Given the description of an element on the screen output the (x, y) to click on. 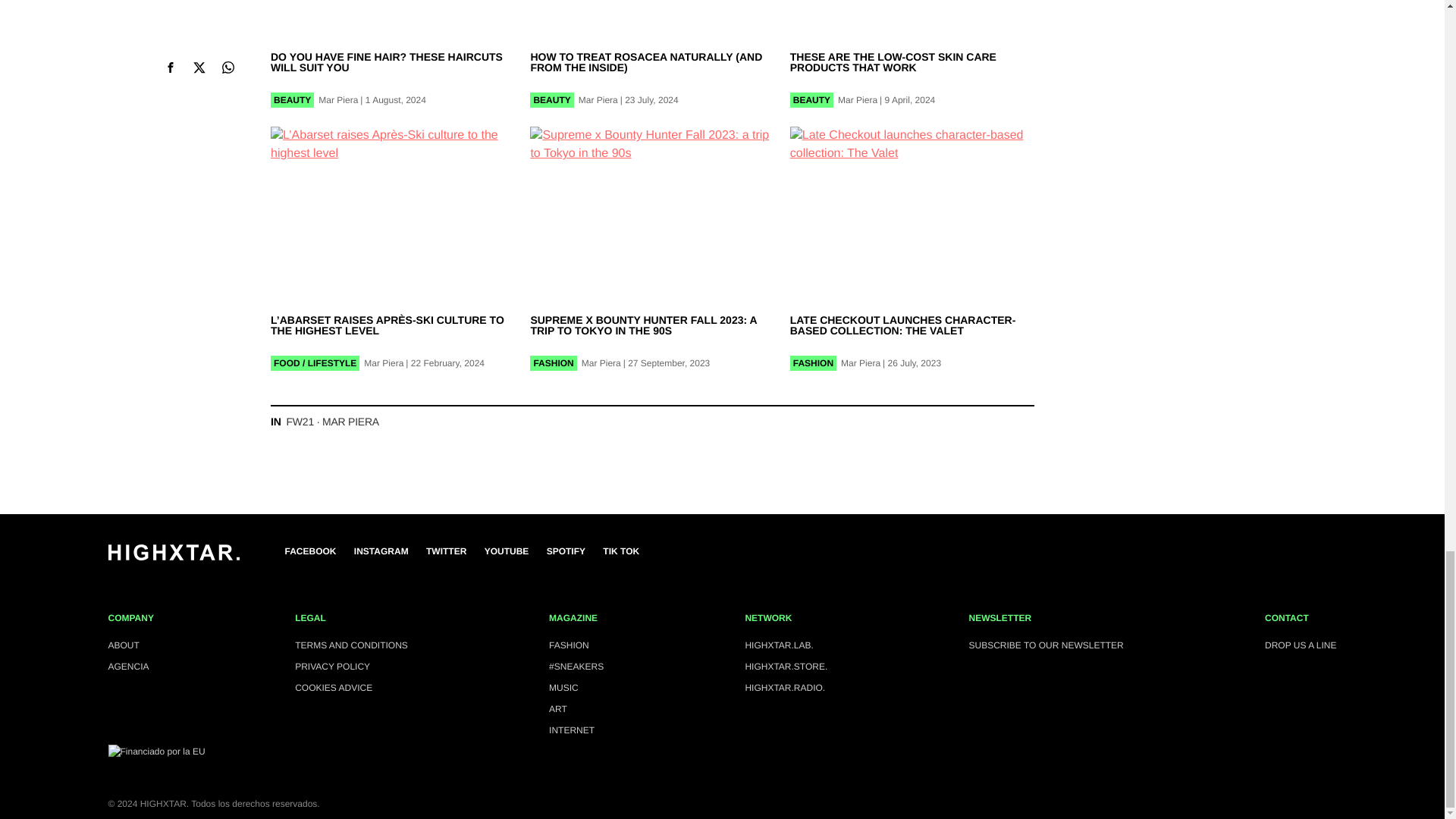
Instagram (381, 550)
Twitter (446, 550)
YouTube (507, 550)
Enlace a Inicio (172, 557)
Spotify (565, 550)
Facebook (310, 550)
